Given the description of an element on the screen output the (x, y) to click on. 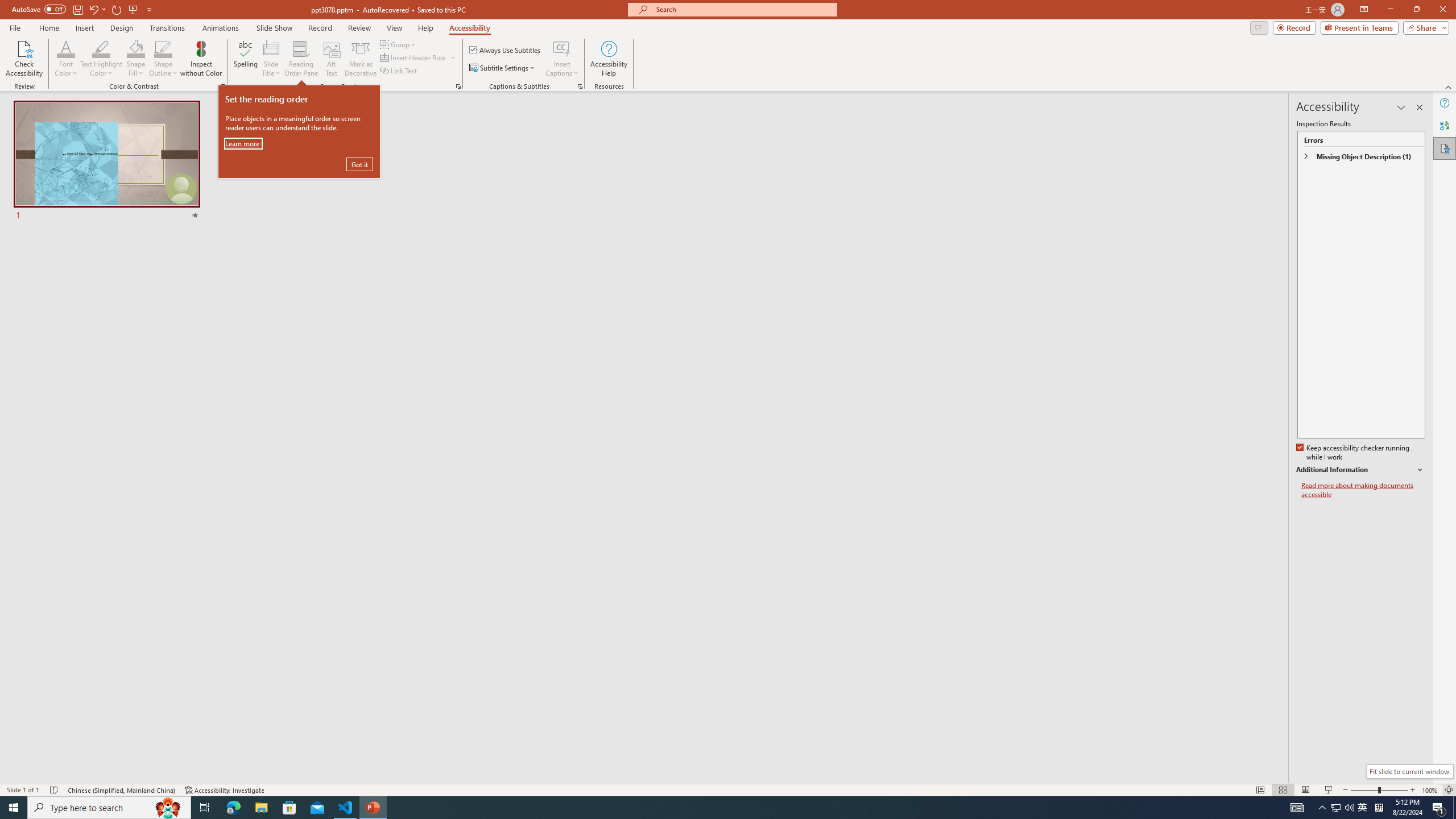
Alt Text (331, 58)
Action Center, 1 new notification (1439, 807)
Subtitle Settings (502, 67)
Screen Reader (458, 85)
